Given the description of an element on the screen output the (x, y) to click on. 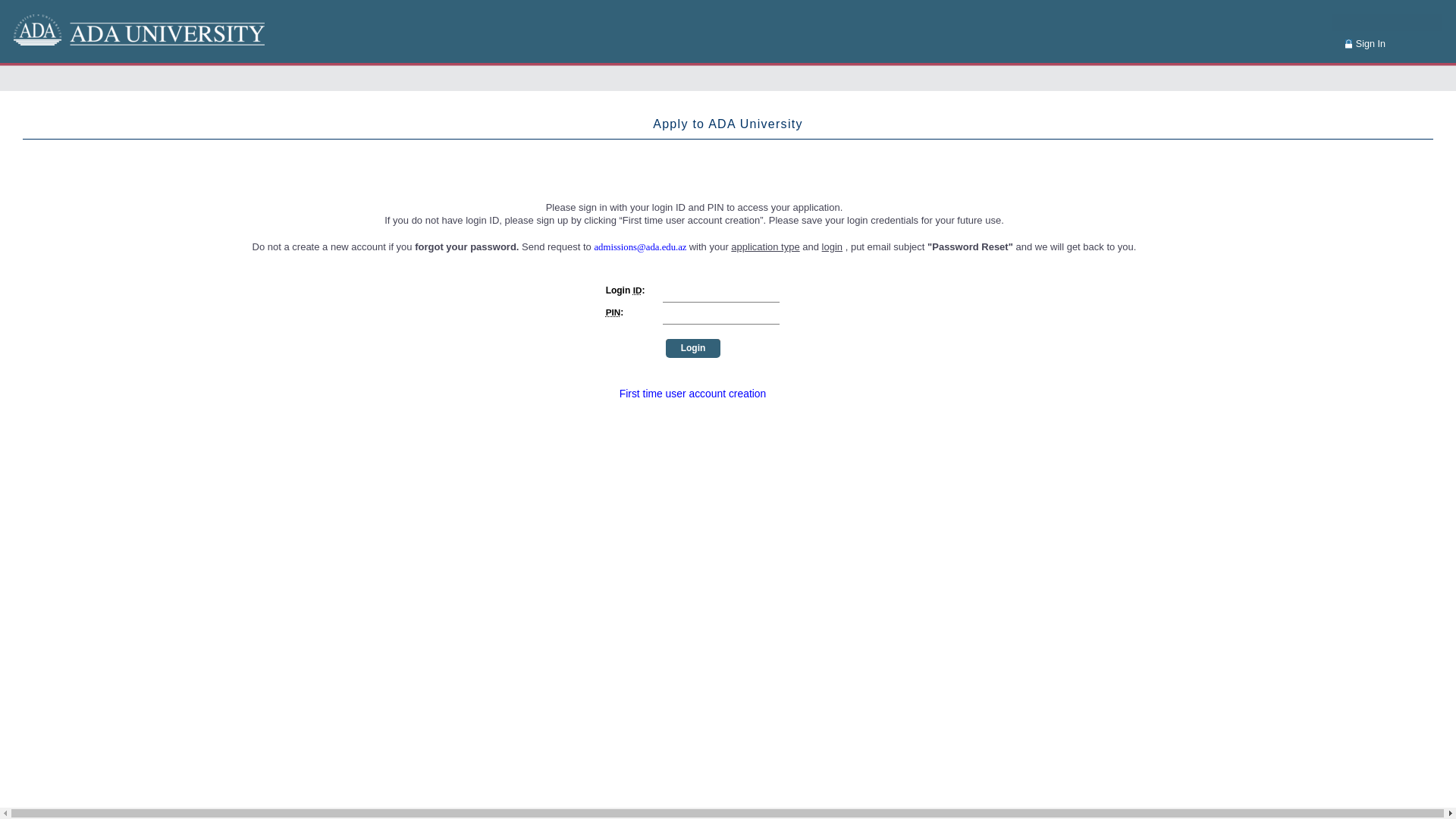
First time user account creation Element type: text (692, 393)
Sign In Element type: text (1361, 43)
Login Element type: text (56, 8)
Transparent Image Element type: hover (26, 400)
Login Element type: text (693, 351)
